Given the description of an element on the screen output the (x, y) to click on. 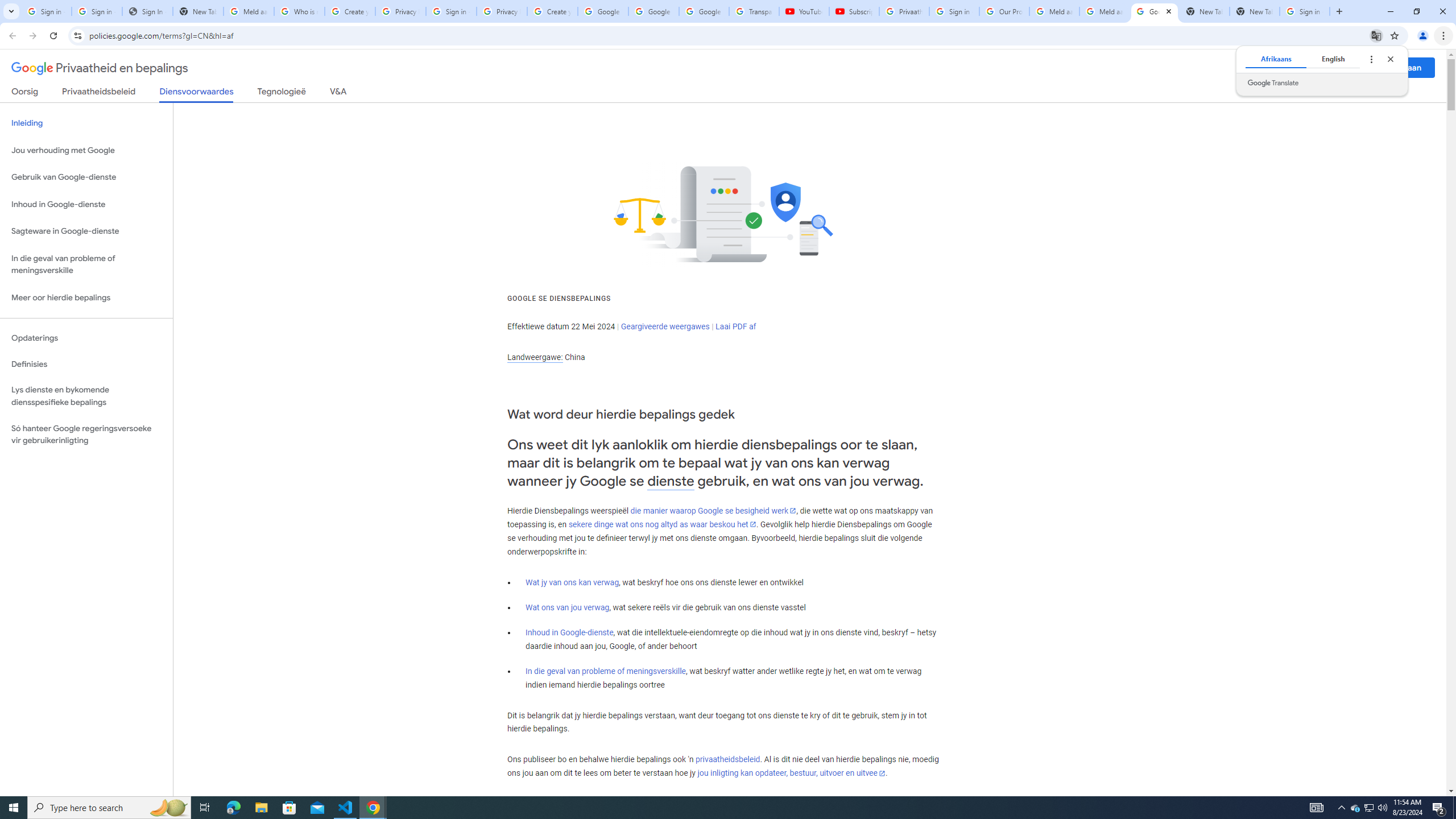
Translate this page (1376, 35)
Wat ons van jou verwag (567, 606)
Create your Google Account (552, 11)
Privaatheid en bepalings (99, 68)
Wat jy van ons kan verwag (571, 582)
V&A (337, 93)
Sign in - Google Accounts (97, 11)
In die geval van probleme of meningsverskille (605, 670)
Meld aan (1404, 67)
Sagteware in Google-dienste (86, 230)
sekere dinge wat ons nog altyd as waar beskou het (662, 524)
